Given the description of an element on the screen output the (x, y) to click on. 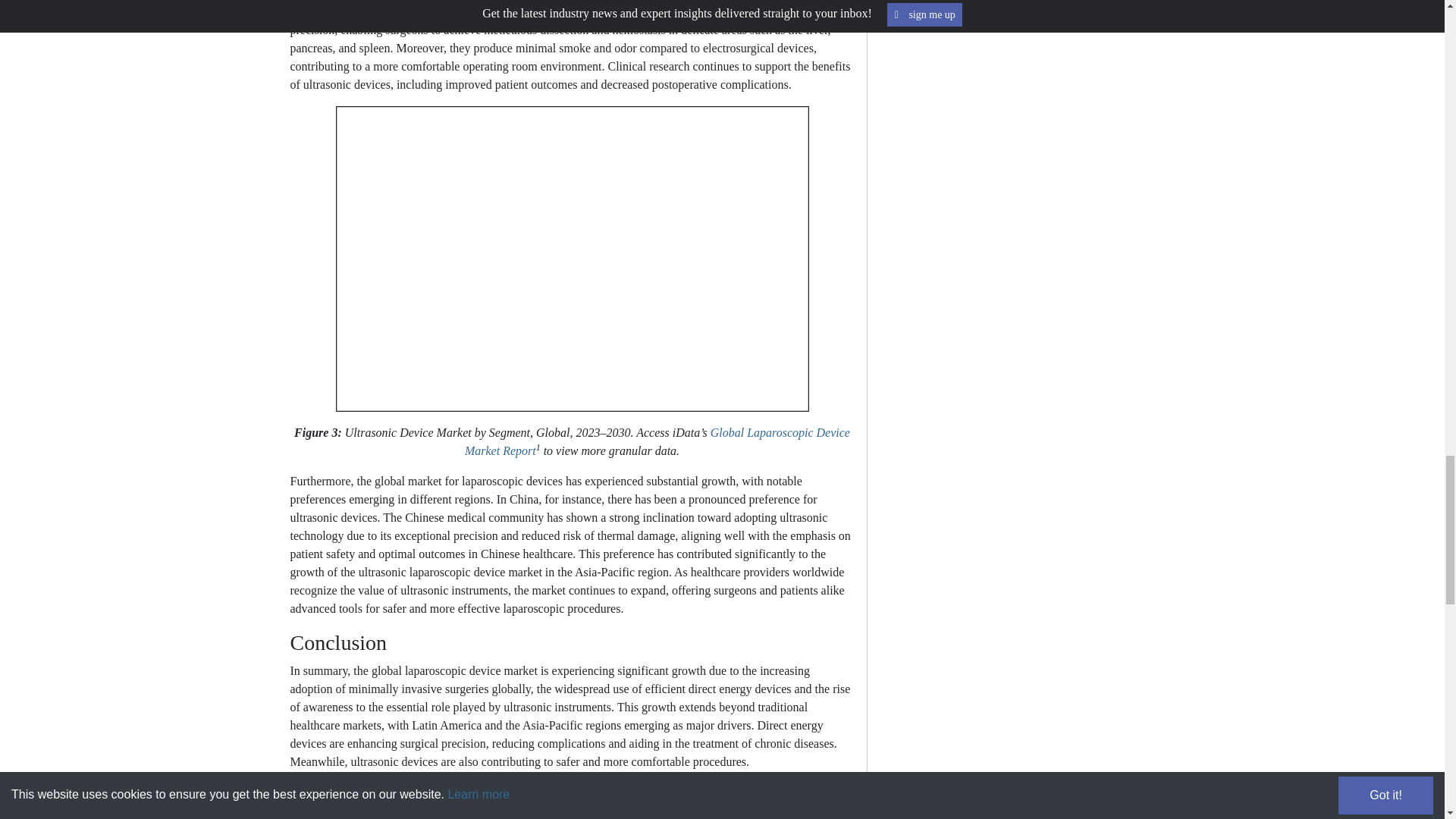
Global Laparoscopic Device Market Report (657, 441)
